Given the description of an element on the screen output the (x, y) to click on. 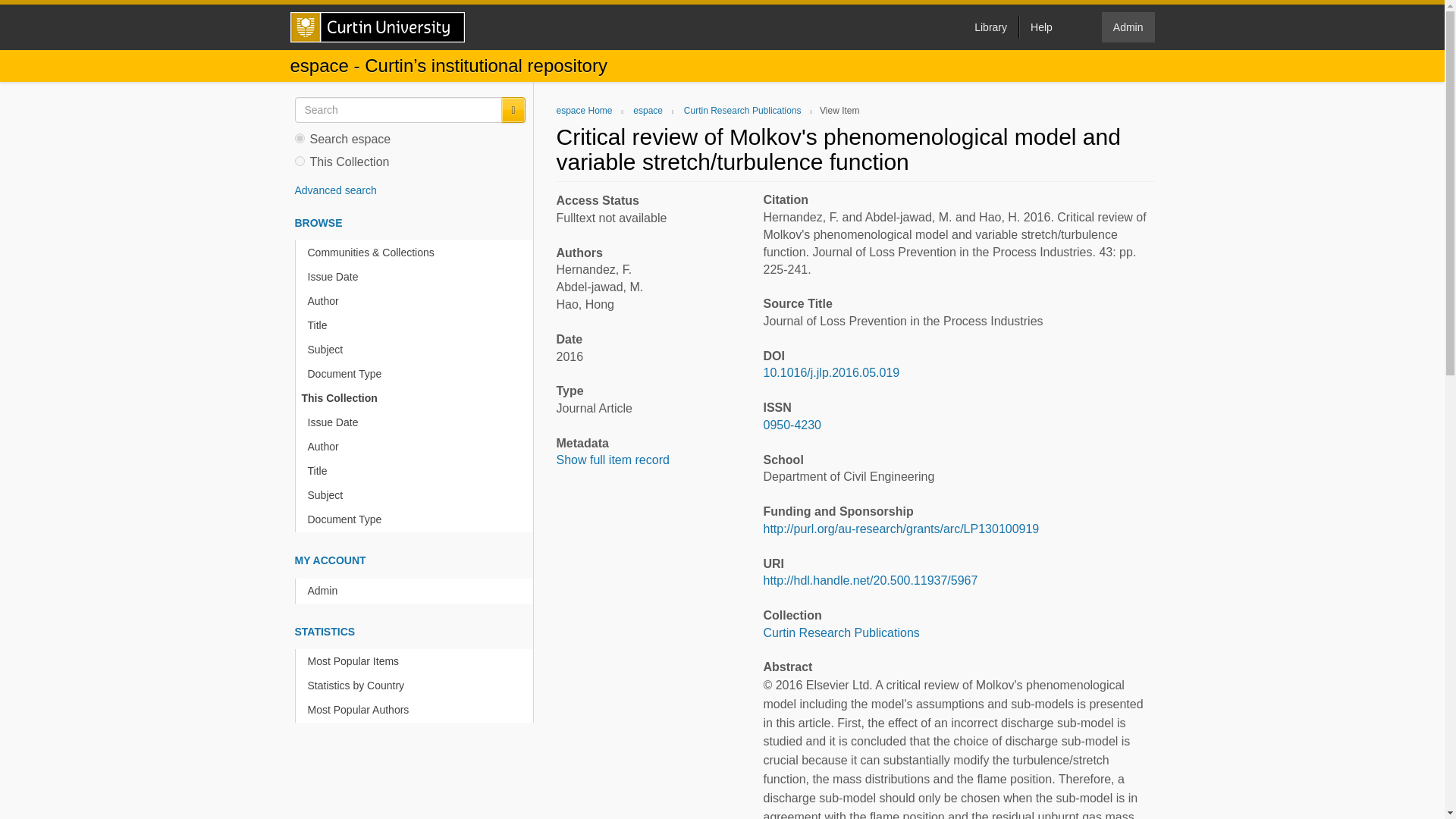
Subject (416, 495)
Library (989, 26)
Admin (1128, 27)
Help (1040, 26)
Curtin Research Publications (743, 110)
Title (416, 471)
Issue Date (416, 422)
espace (647, 110)
0950-4230 (791, 424)
Go (512, 109)
Issue Date (416, 276)
Title (416, 325)
Author (416, 446)
Document Type (416, 519)
Curtin University Homepage (376, 27)
